Given the description of an element on the screen output the (x, y) to click on. 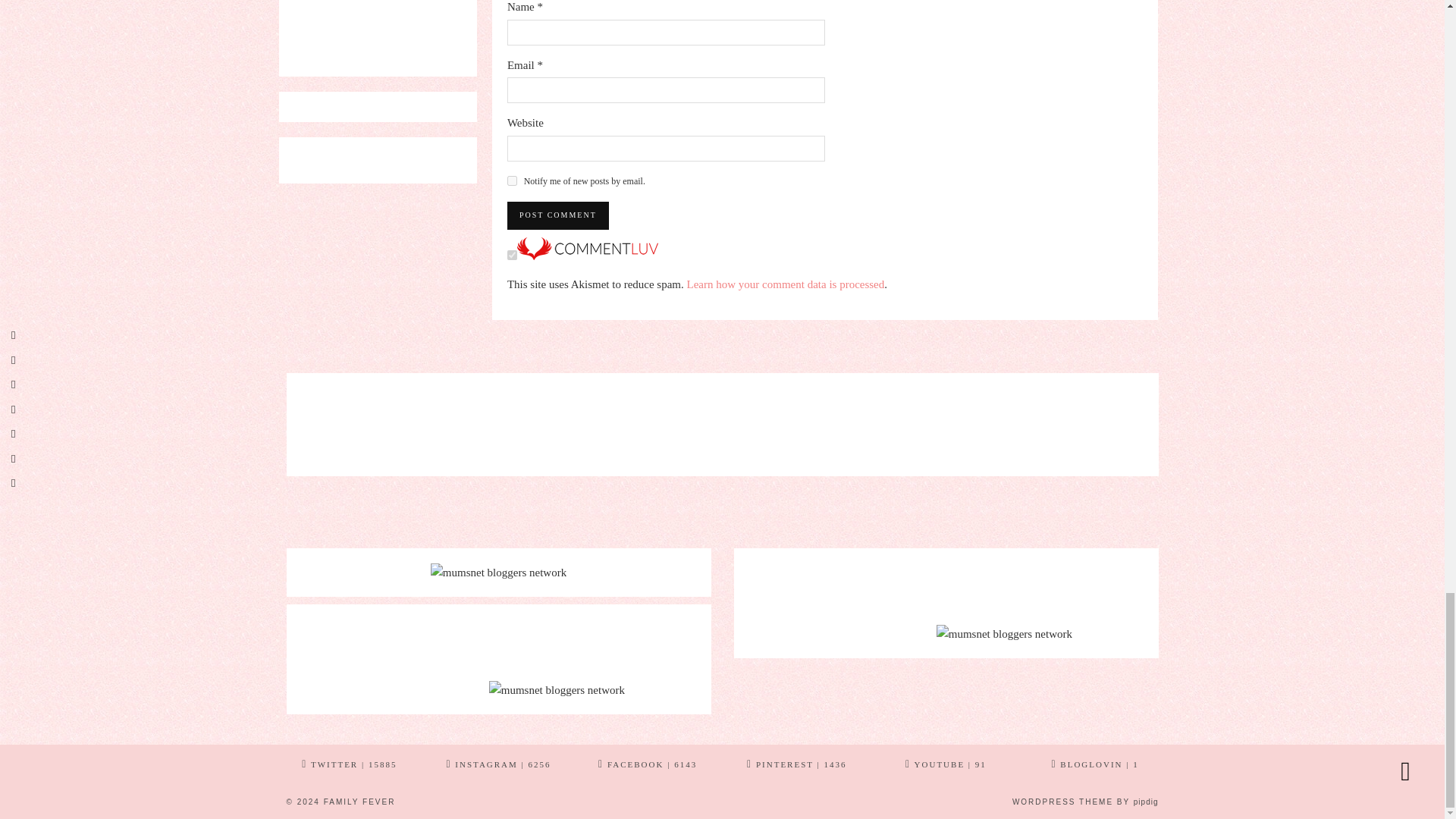
subscribe (511, 180)
Post Comment (557, 215)
on (511, 255)
